Given the description of an element on the screen output the (x, y) to click on. 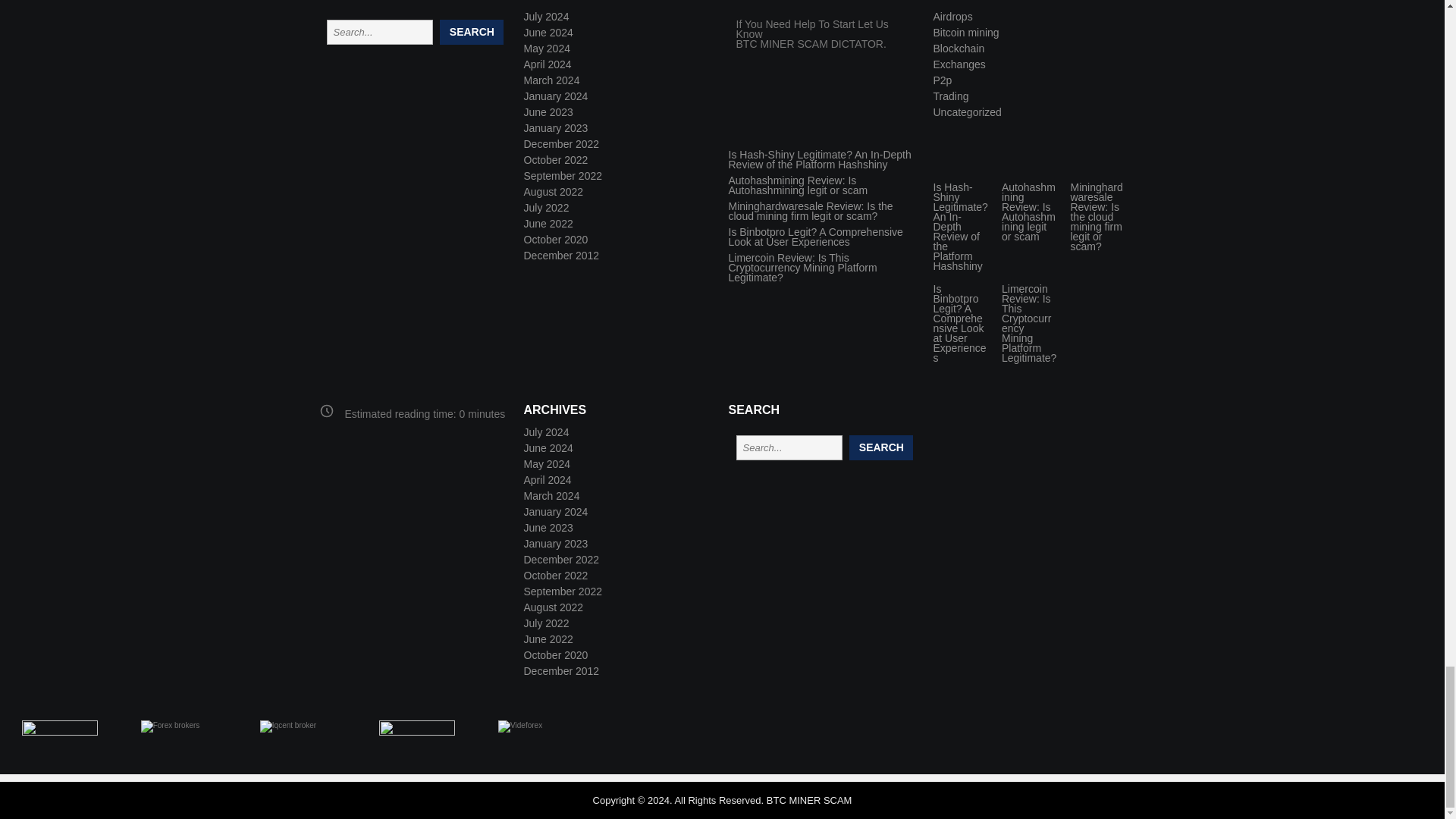
June 2022 (547, 223)
January 2024 (555, 96)
Search (471, 32)
July 2024 (545, 16)
September 2022 (562, 175)
Search (471, 32)
July 2022 (545, 207)
Search (471, 32)
August 2022 (552, 191)
Search (880, 447)
Search (880, 447)
October 2020 (555, 239)
January 2023 (555, 128)
October 2022 (555, 159)
April 2024 (546, 64)
